Given the description of an element on the screen output the (x, y) to click on. 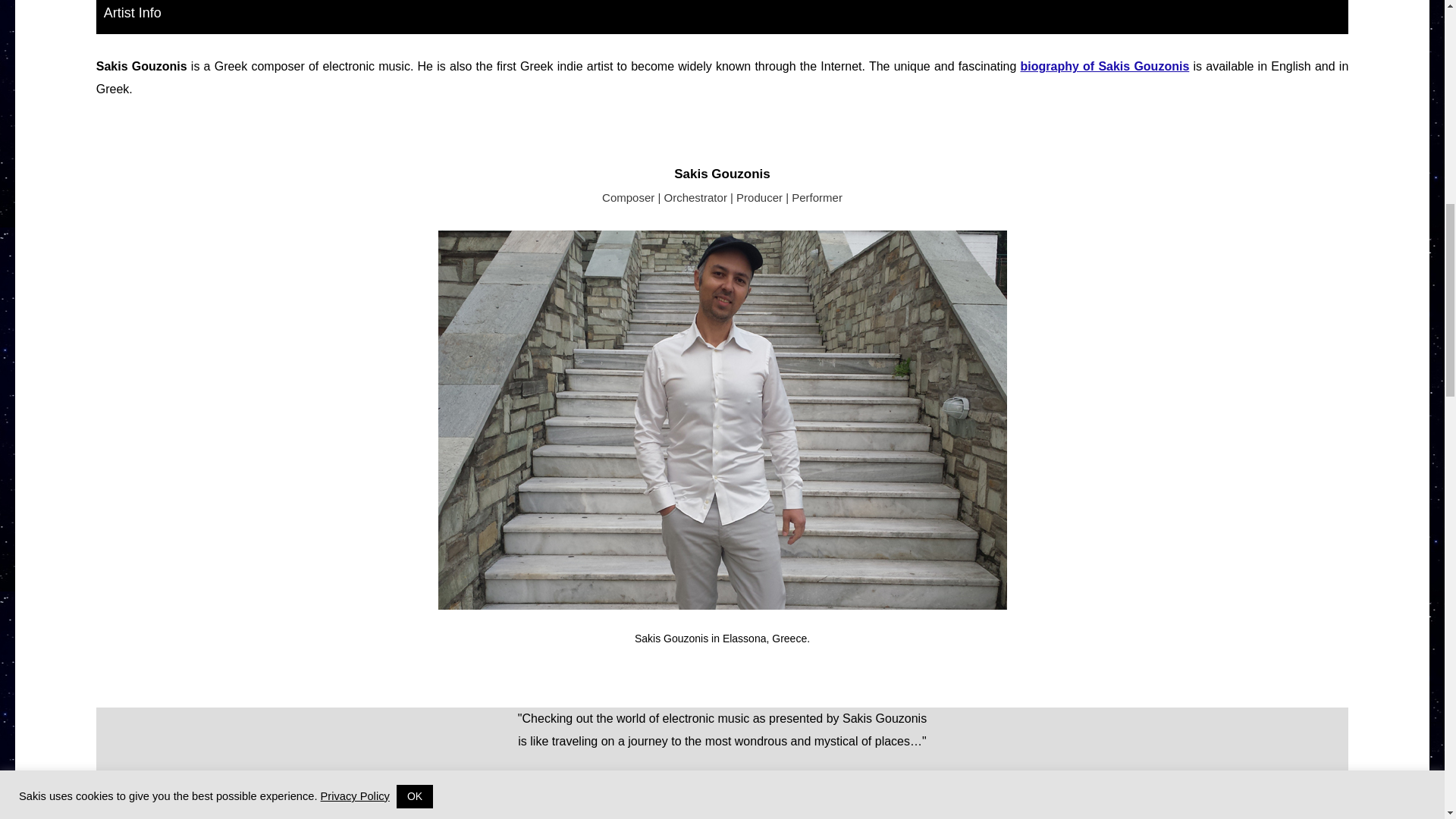
Biography of Sakis Gouzonis (1104, 65)
biography of Sakis Gouzonis (1104, 65)
